Given the description of an element on the screen output the (x, y) to click on. 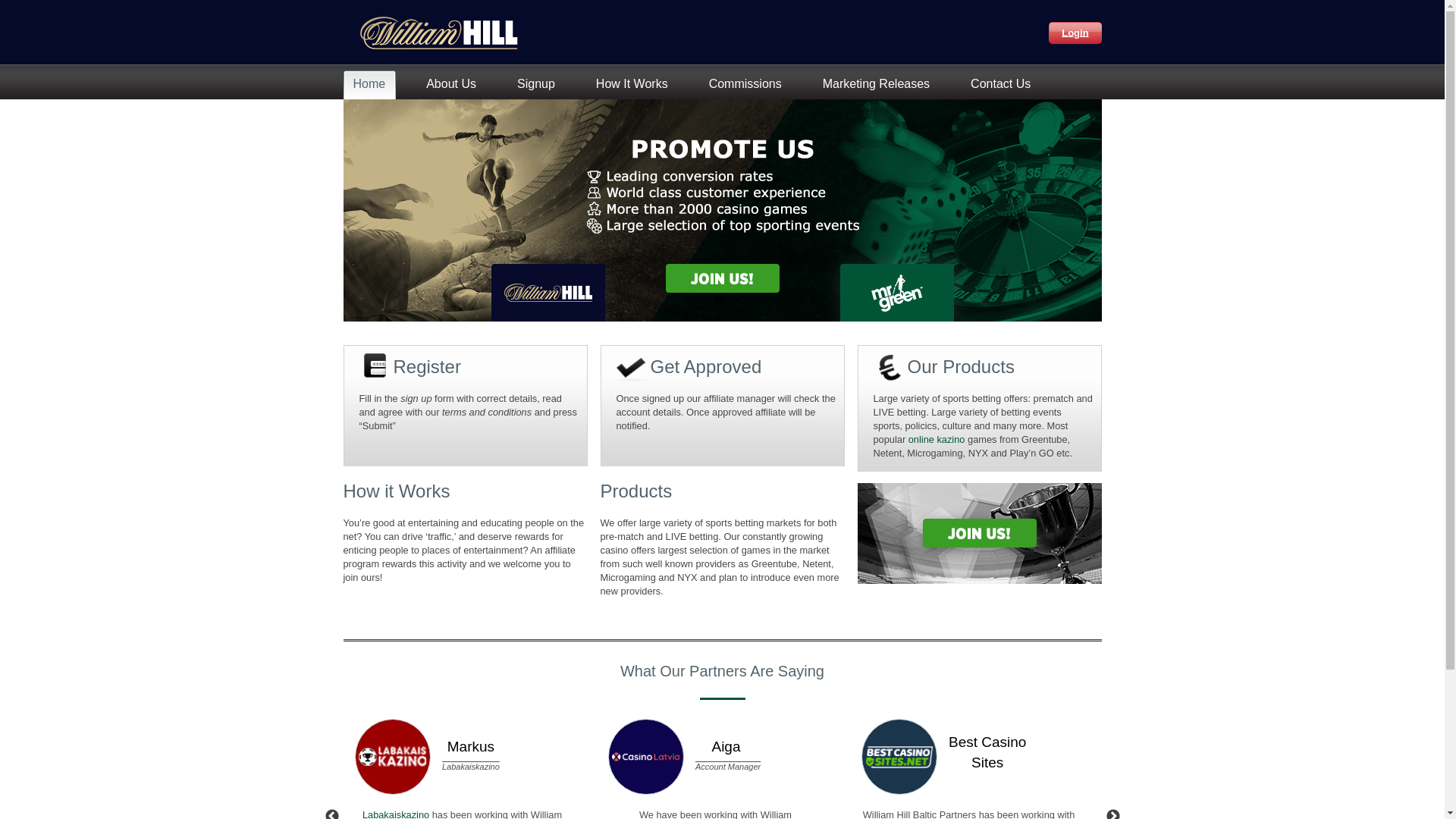
About Us Element type: text (454, 84)
How It Works Element type: text (635, 84)
Contact Us Element type: text (1003, 84)
Signup Element type: text (539, 84)
Home Element type: text (371, 84)
online kazino Element type: text (936, 439)
Commissions Element type: text (748, 84)
Login Element type: text (1074, 32)
Marketing Releases Element type: text (879, 84)
